Given the description of an element on the screen output the (x, y) to click on. 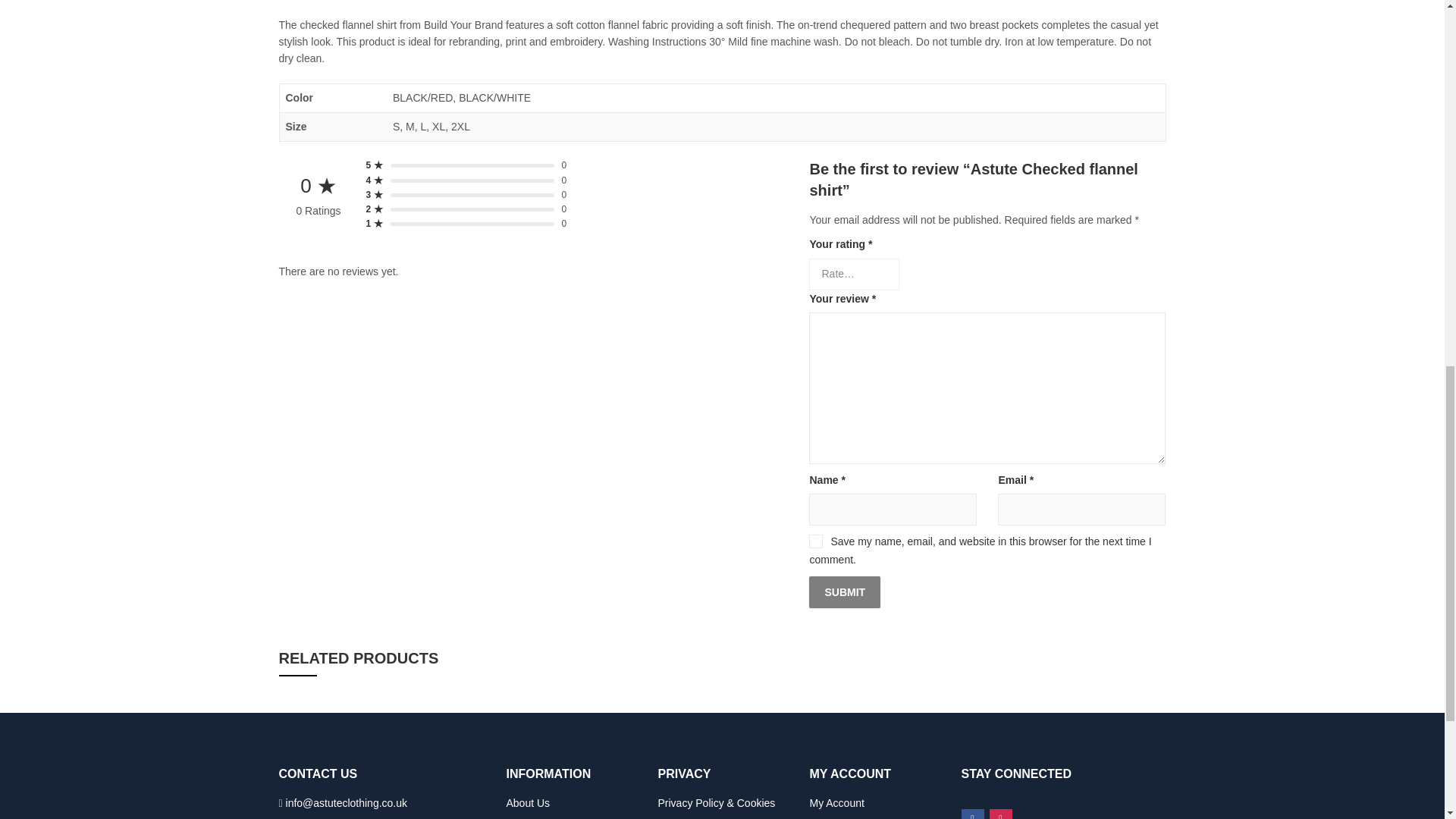
Submit (844, 592)
yes (815, 540)
